Given the description of an element on the screen output the (x, y) to click on. 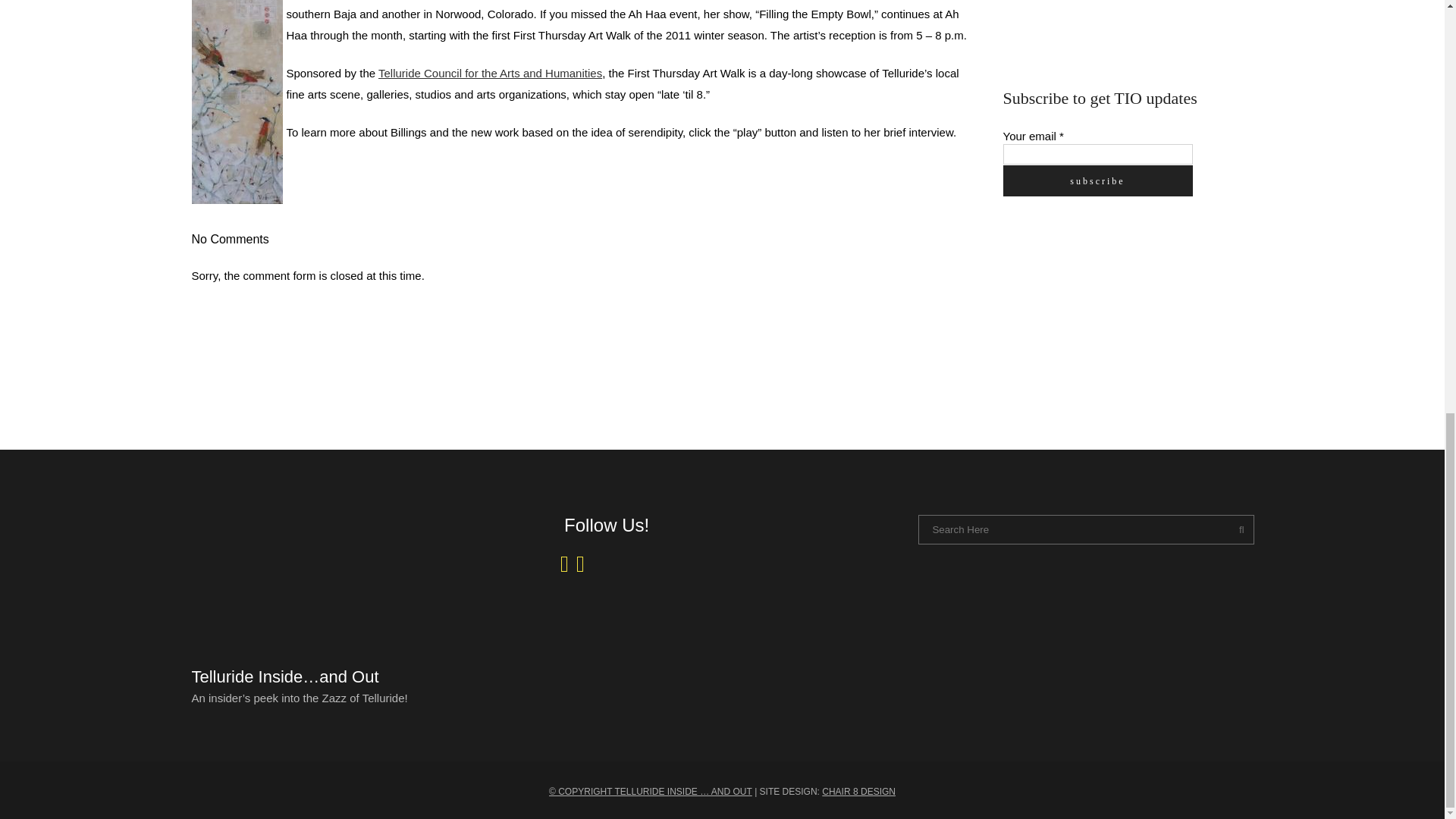
Your email (1097, 154)
3rd party ad content (1116, 27)
3rd party ad content (1116, 322)
Subscribe (1097, 180)
